Given the description of an element on the screen output the (x, y) to click on. 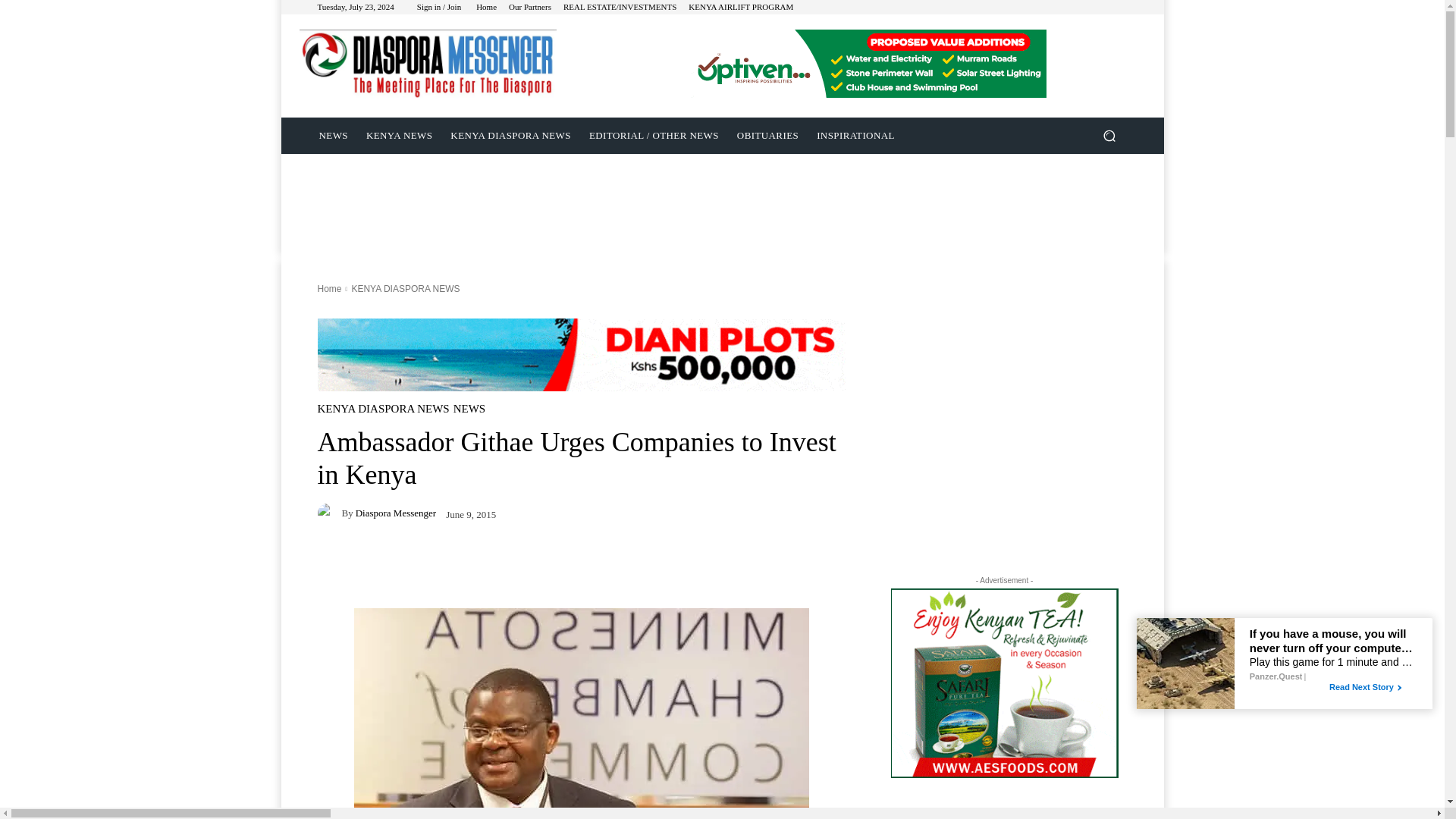
KENYA NEWS (398, 135)
Home (486, 7)
Diaspora Messenger (328, 513)
KENYA AIRLIFT PROGRAM (740, 7)
Our Partners (529, 7)
INSPIRATIONAL (856, 135)
OBITUARIES (768, 135)
KENYA DIASPORA NEWS (510, 135)
NEWS (469, 408)
Advertisement (721, 187)
KENYA DIASPORA NEWS (405, 288)
View all posts in KENYA DIASPORA NEWS (405, 288)
Diaspora Messenger (395, 512)
Diaspora Messenger (427, 64)
KENYA DIASPORA NEWS (382, 408)
